Given the description of an element on the screen output the (x, y) to click on. 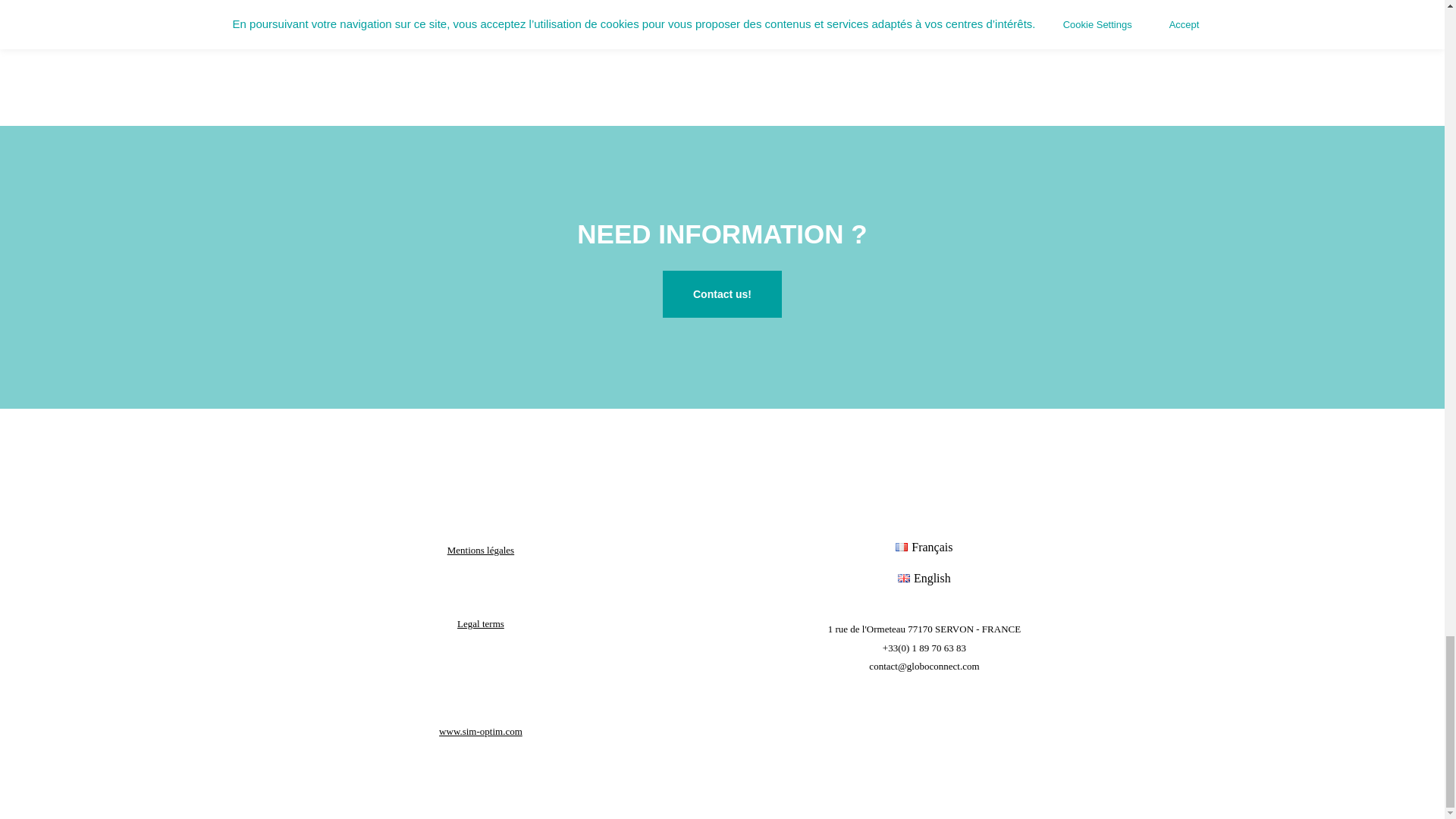
Contact us! (721, 294)
English (924, 577)
WordPress (410, 797)
Neve (302, 797)
www.sim-optim.com (480, 731)
Legal terms (480, 623)
